Given the description of an element on the screen output the (x, y) to click on. 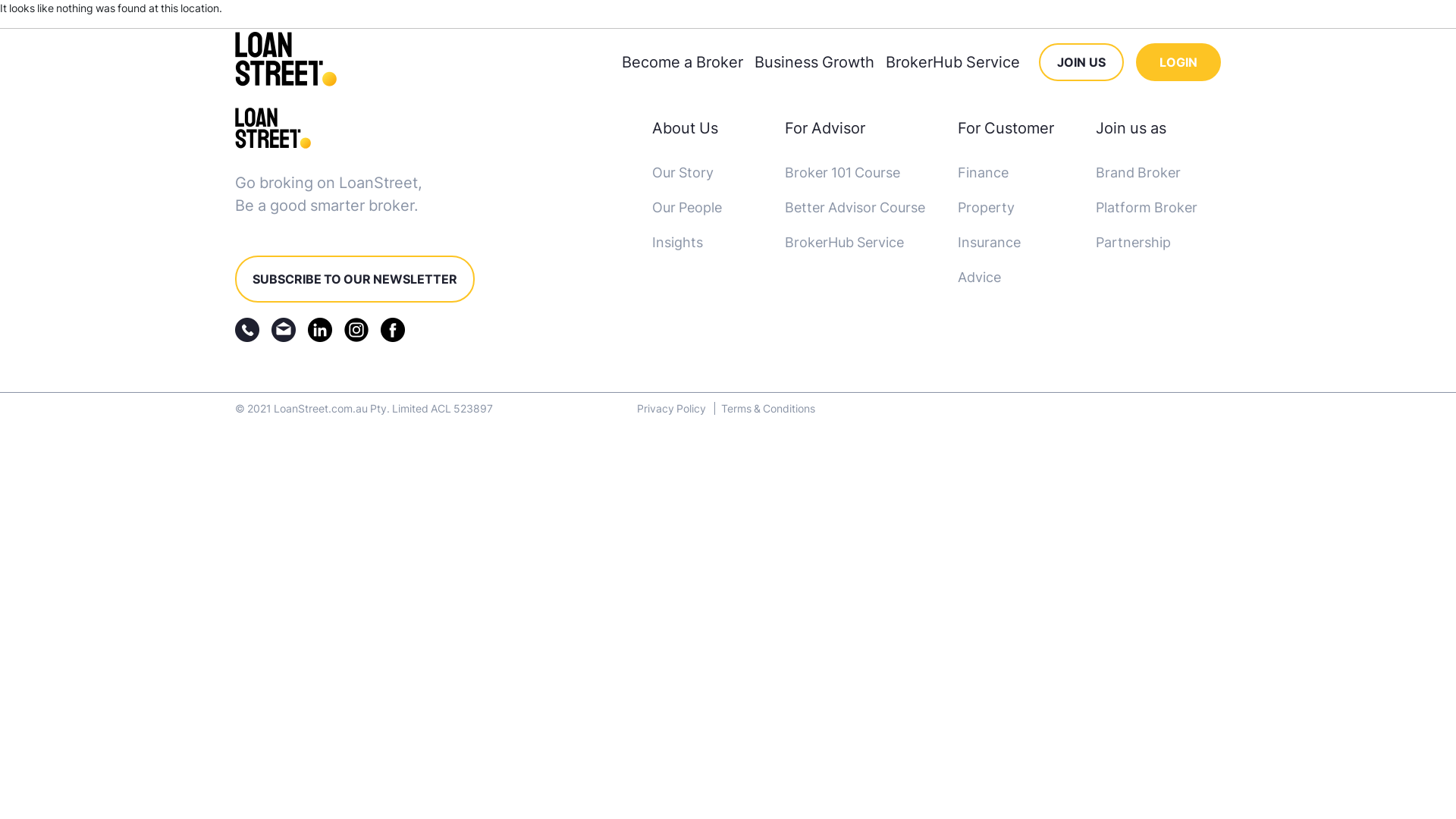
Advice Element type: text (979, 277)
Become a Broker Element type: text (682, 61)
Brand Broker Element type: text (1137, 172)
JOIN US Element type: text (1080, 62)
Privacy Policy   Element type: text (676, 407)
Partnership Element type: text (1132, 242)
Business Growth Element type: text (814, 61)
Insurance Element type: text (988, 242)
For Customer Element type: text (1005, 128)
Platform Broker Element type: text (1146, 207)
BrokerHub Service Element type: text (843, 242)
Our People Element type: text (686, 207)
Finance Element type: text (982, 172)
JOIN US Element type: text (1080, 62)
Property Element type: text (985, 207)
Better Advisor Course Element type: text (854, 207)
BrokerHub Service Element type: text (952, 61)
Terms & Conditions Element type: text (768, 407)
Broker 101 Course Element type: text (842, 172)
Insights Element type: text (677, 242)
LOGIN Element type: text (1177, 62)
Our Story Element type: text (682, 172)
For Advisor Element type: text (824, 128)
LOGIN Element type: text (1177, 62)
SUBSCRIBE TO OUR NEWSLETTER Element type: text (354, 278)
About Us Element type: text (685, 128)
Join us as Element type: text (1130, 128)
